Given the description of an element on the screen output the (x, y) to click on. 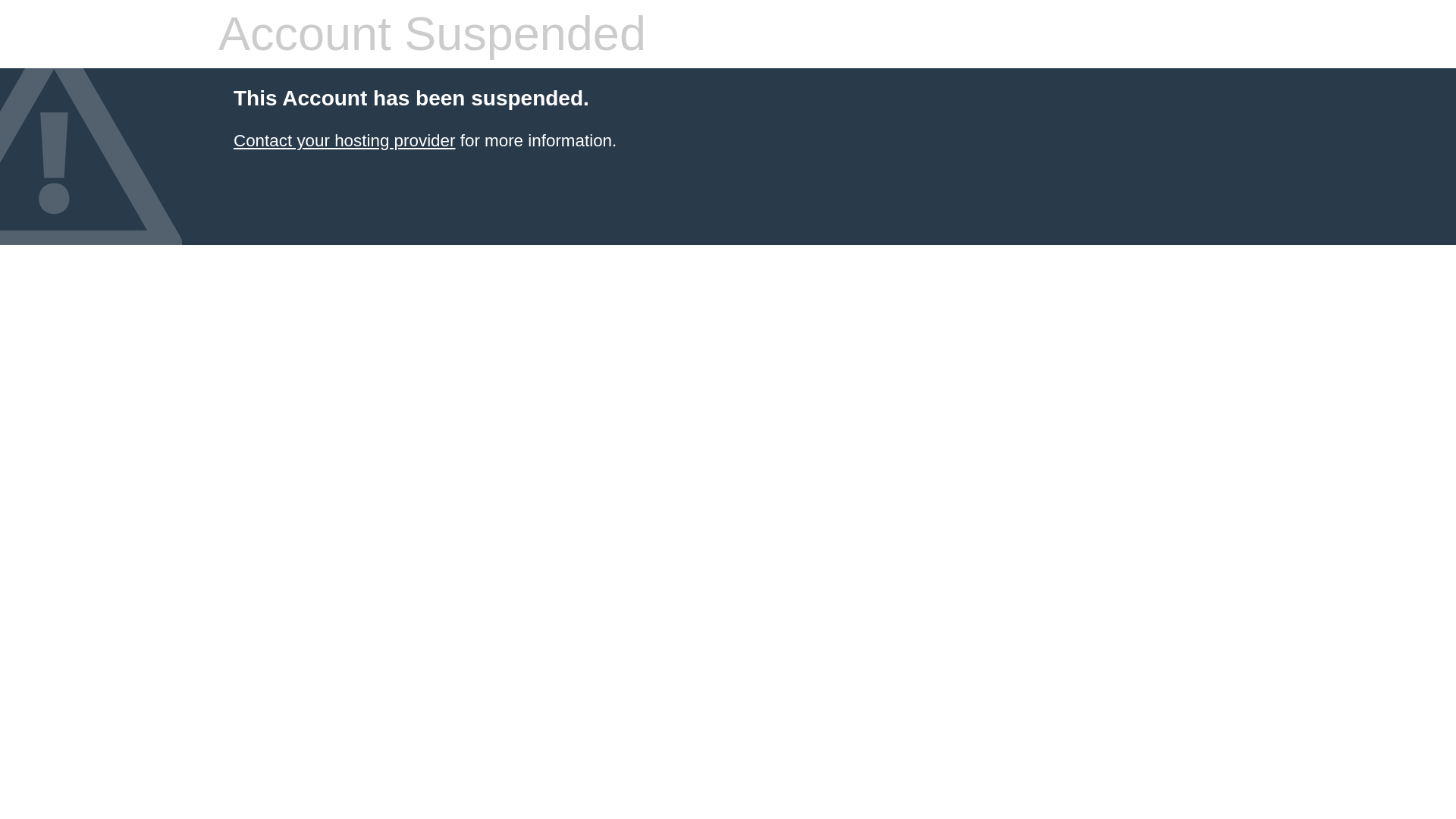
Contact your hosting provider (343, 140)
